Given the description of an element on the screen output the (x, y) to click on. 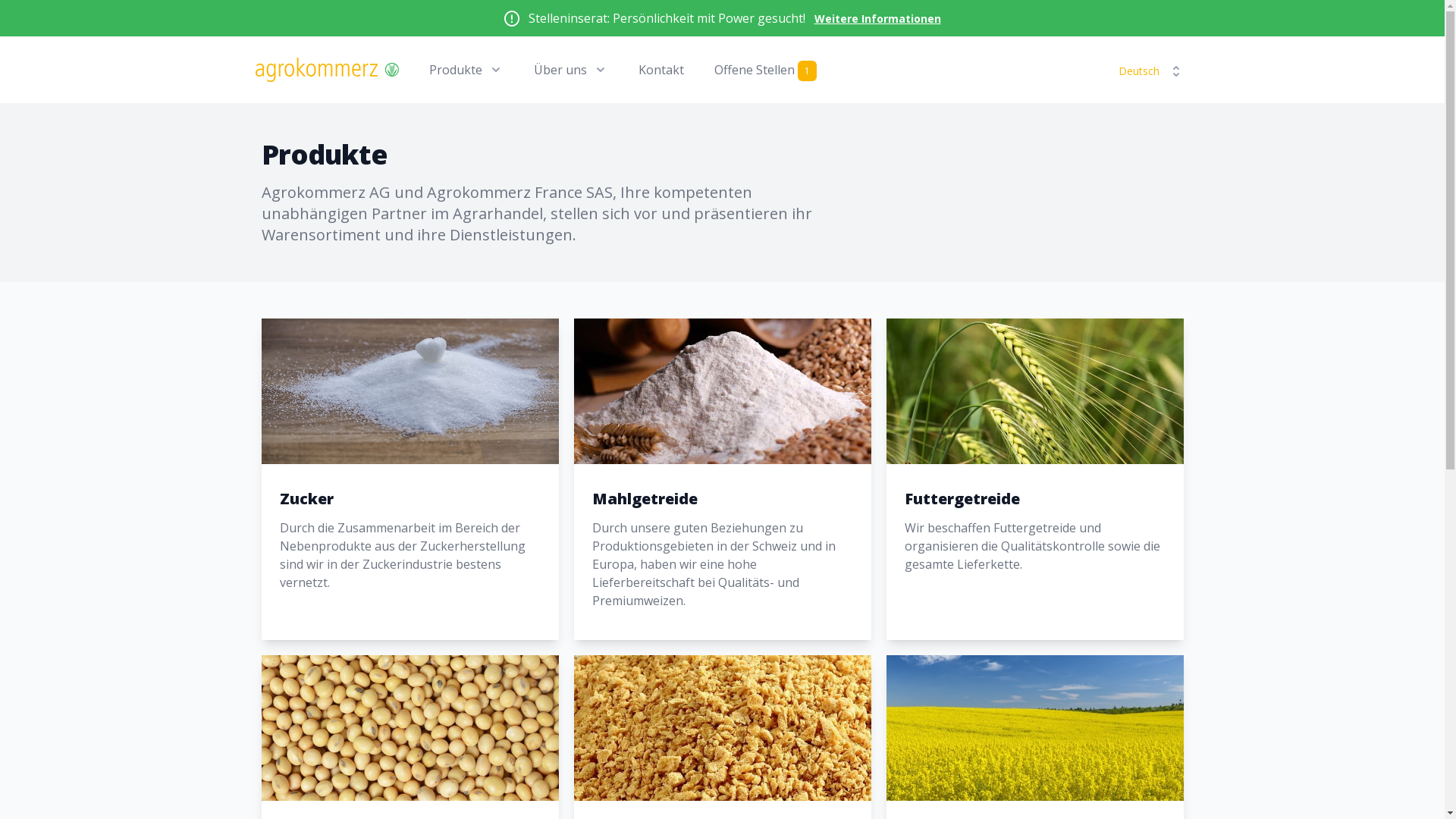
Weitere Informationen Element type: text (877, 18)
Kontakt Element type: text (661, 69)
Workflow Element type: text (326, 69)
Produkte Element type: text (466, 69)
Deutsch Element type: text (1148, 70)
Offene Stellen 1 Element type: text (765, 69)
